Given the description of an element on the screen output the (x, y) to click on. 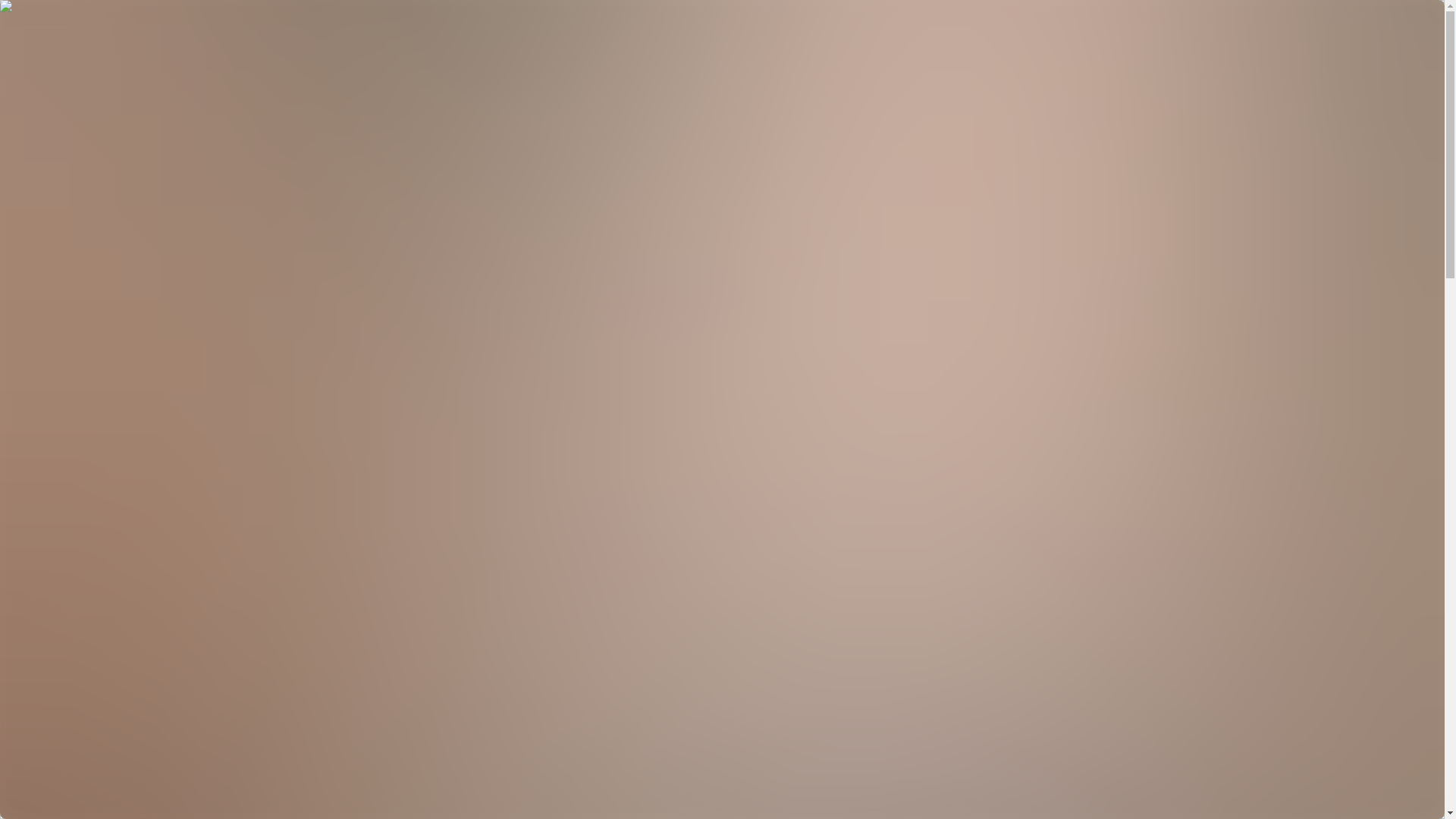
News (50, 72)
Categories (61, 59)
Creators (56, 45)
